Given the description of an element on the screen output the (x, y) to click on. 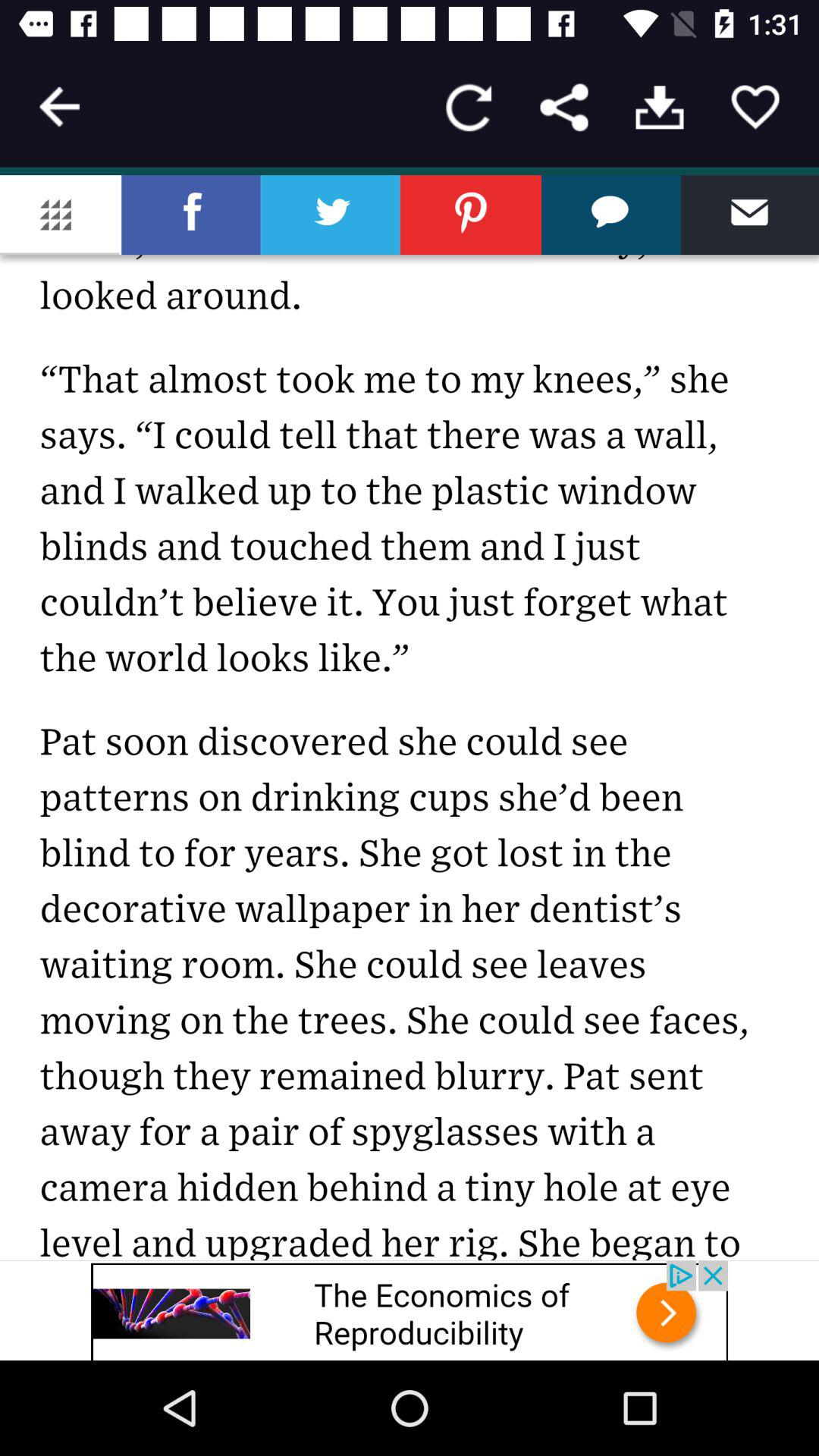
favorite article (755, 107)
